Given the description of an element on the screen output the (x, y) to click on. 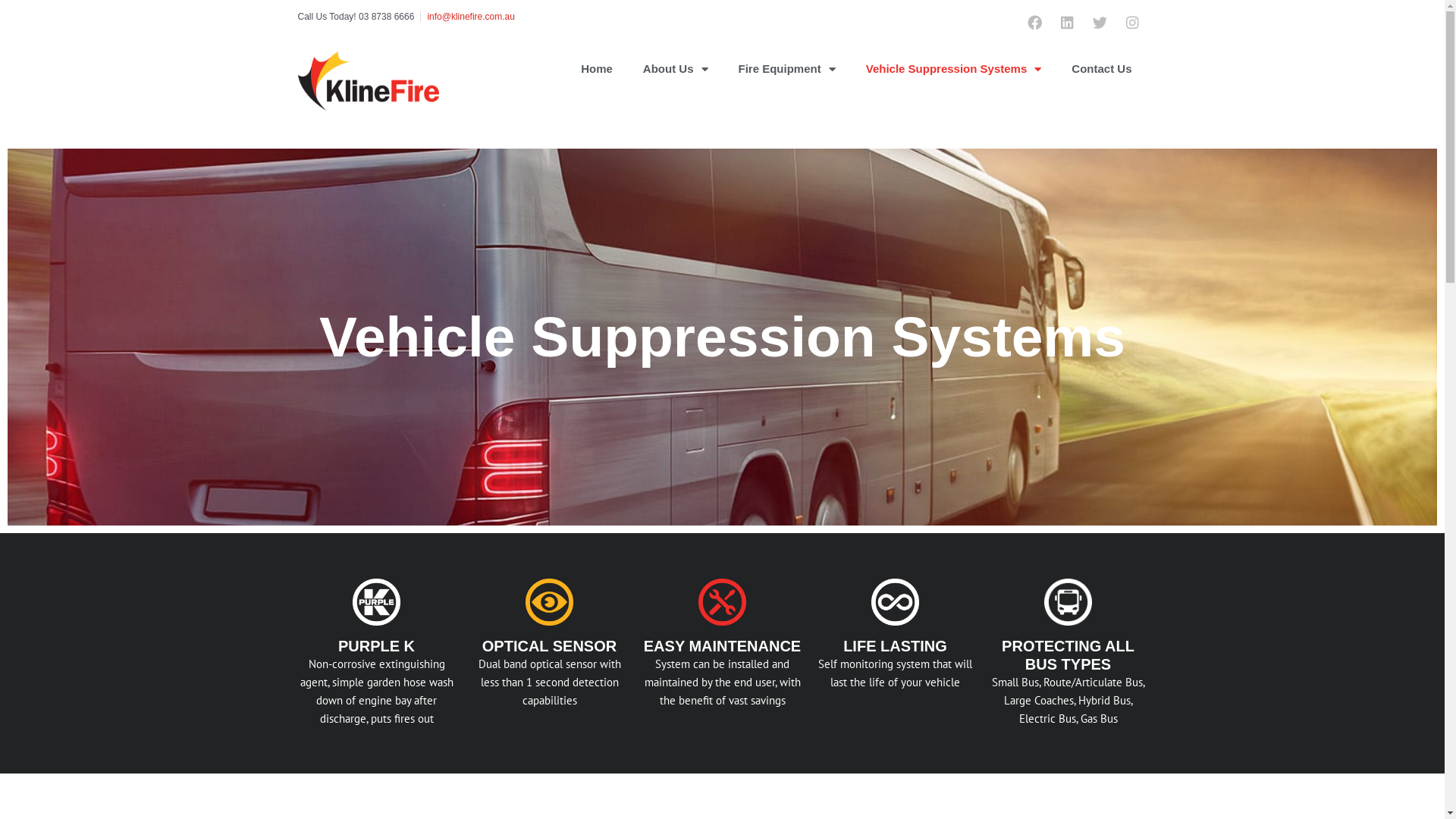
Linkedin Element type: text (1066, 21)
Home Element type: text (596, 68)
info@klinefire.com.au Element type: text (470, 16)
Instagram Element type: text (1131, 21)
OPTICAL SENSOR Element type: text (549, 645)
Vehicle Suppression Systems Element type: text (953, 68)
Contact Us Element type: text (1101, 68)
PROTECTING ALL BUS TYPES Element type: text (1067, 654)
PURPLE K Element type: text (376, 645)
Facebook Element type: text (1034, 21)
LIFE LASTING Element type: text (895, 645)
About Us Element type: text (675, 68)
Twitter Element type: text (1099, 21)
Fire Equipment Element type: text (786, 68)
EASY MAINTENANCE Element type: text (721, 645)
